Given the description of an element on the screen output the (x, y) to click on. 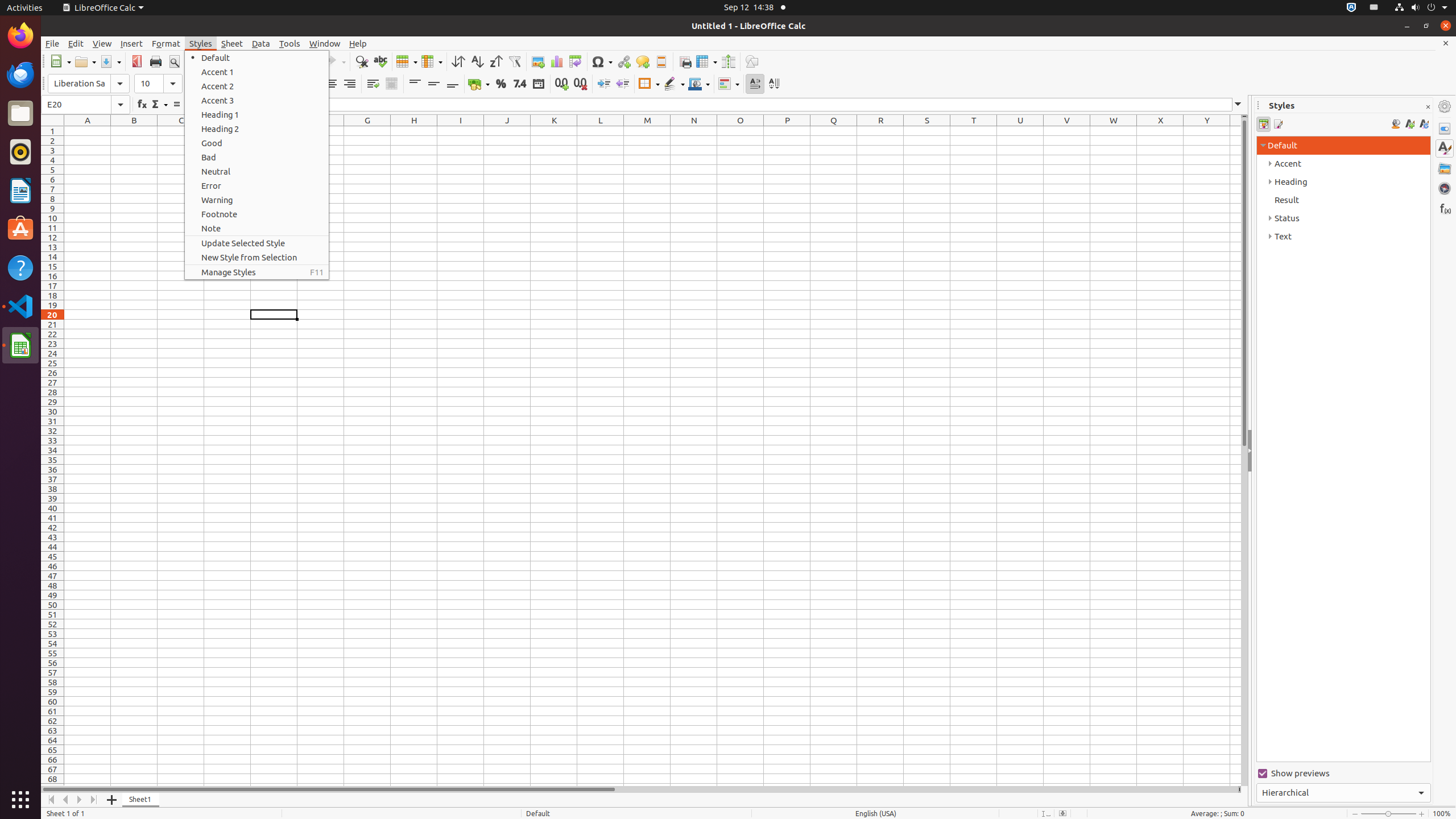
Neutral Element type: radio-menu-item (256, 171)
LibreOffice Calc Element type: menu (102, 7)
Print Element type: push-button (155, 61)
Currency Element type: push-button (478, 83)
O1 Element type: table-cell (740, 130)
